Given the description of an element on the screen output the (x, y) to click on. 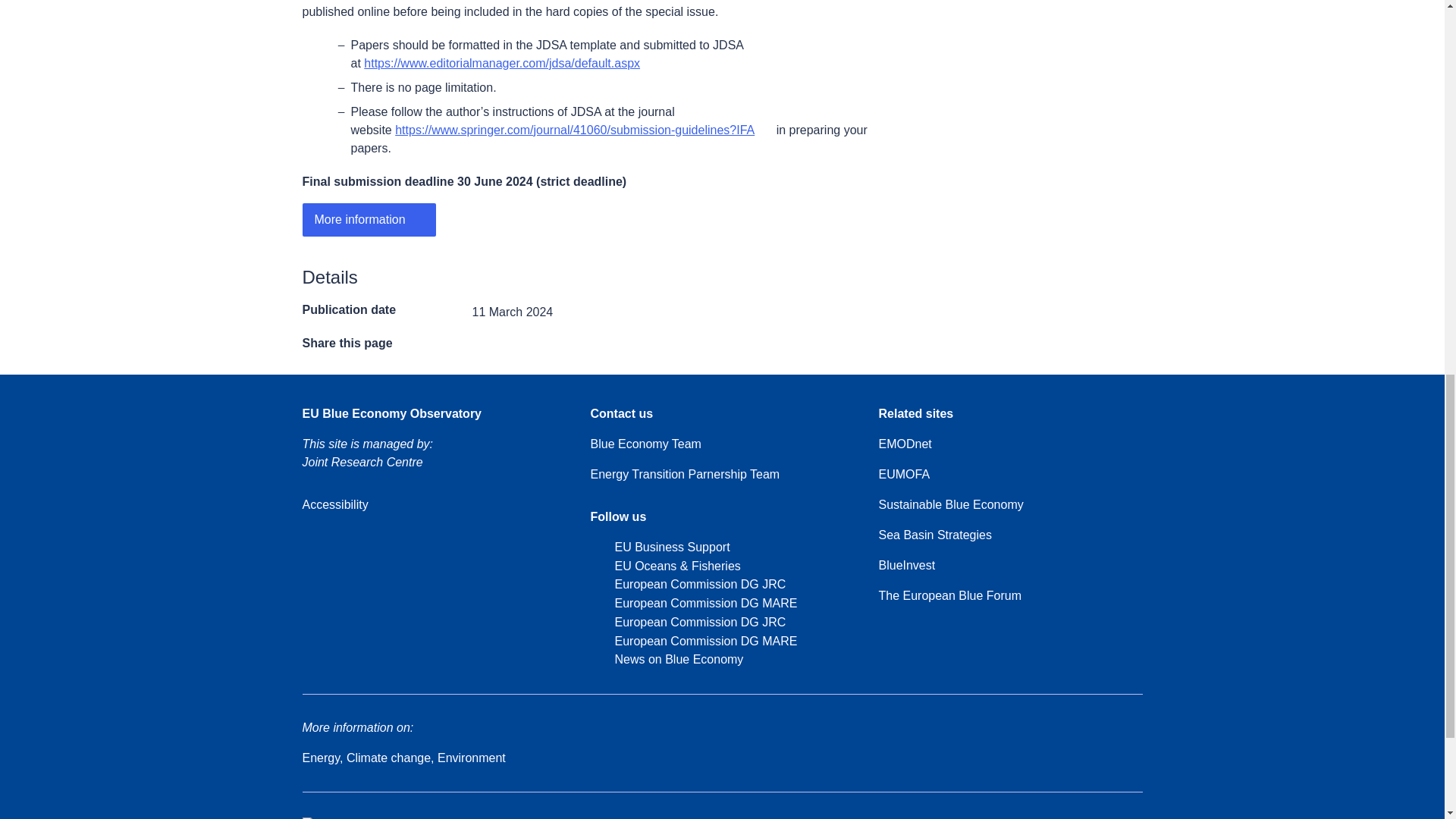
European Commission DG JRC (687, 622)
EU Business Support (659, 547)
EU Blue Economy Observatory (391, 413)
Energy, Climate change, Environment (403, 758)
Accessibility (334, 505)
Sustainable Blue Economy (950, 505)
Languages on our websites (951, 817)
European Commission DG MARE (692, 641)
EMODnet (904, 443)
The European Blue Forum (949, 596)
